Given the description of an element on the screen output the (x, y) to click on. 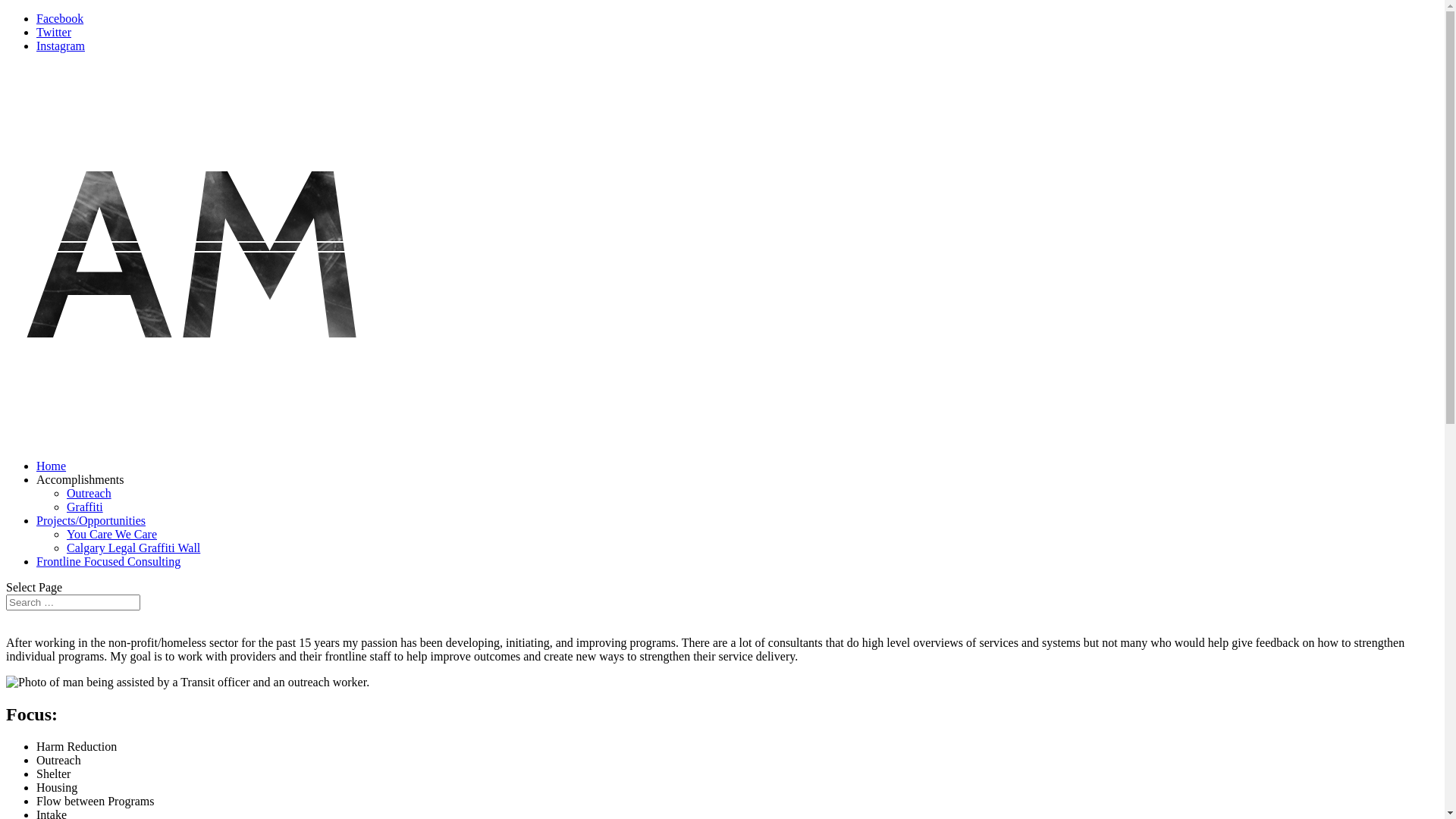
Facebook Element type: text (59, 18)
Search for: Element type: hover (73, 602)
IMG_4812-opt Element type: hover (187, 682)
Frontline Focused Consulting Element type: text (108, 561)
Twitter Element type: text (53, 31)
Outreach Element type: text (88, 492)
Graffiti Element type: text (84, 506)
Projects/Opportunities Element type: text (90, 520)
You Care We Care Element type: text (111, 533)
Home Element type: text (50, 465)
Calgary Legal Graffiti Wall Element type: text (133, 547)
Instagram Element type: text (60, 45)
Accomplishments Element type: text (80, 479)
